Given the description of an element on the screen output the (x, y) to click on. 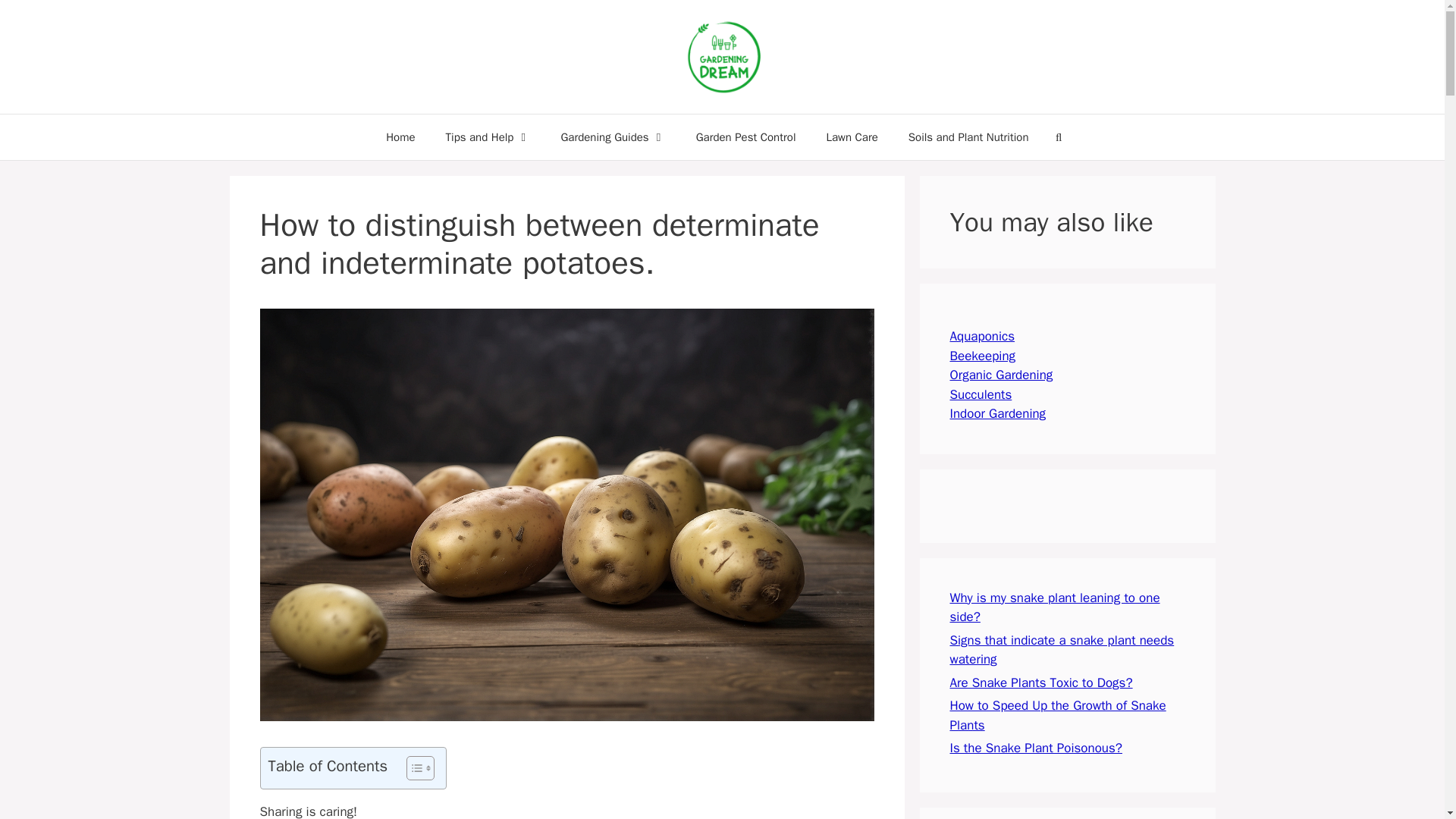
Tips and Help (488, 136)
Soils and Plant Nutrition (968, 136)
Gardening Guides (611, 136)
Home (400, 136)
Lawn Care (851, 136)
Garden Pest Control (745, 136)
